Given the description of an element on the screen output the (x, y) to click on. 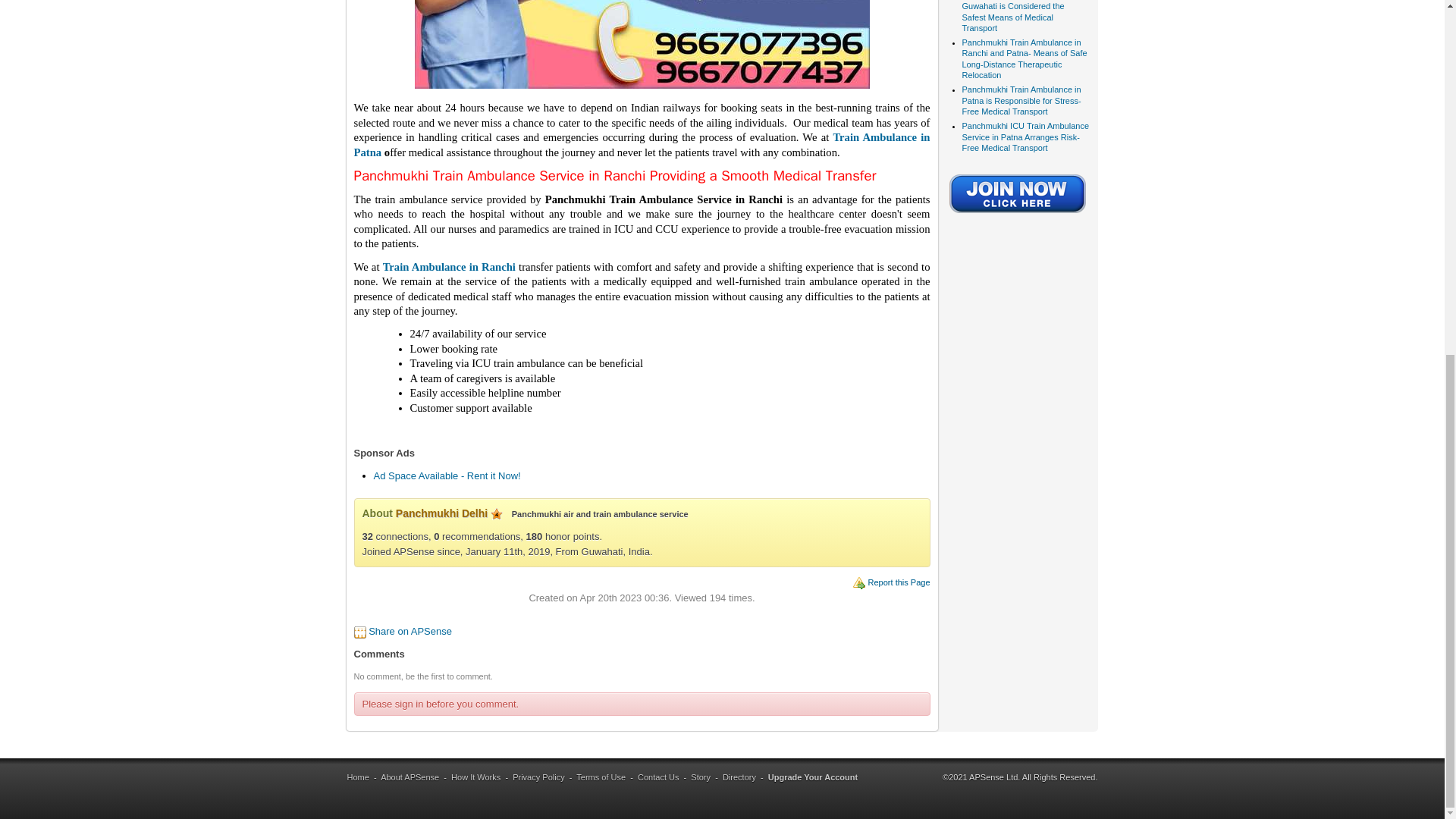
Report this Page (898, 582)
Train Ambulance in Patna (641, 144)
Panchmukhi Delhi (441, 512)
Join APSense Social Network (1017, 214)
Ad Space Available - Rent it Now! (445, 475)
Train Ambulance in Ranchi (448, 266)
Advanced (496, 513)
Share on APSense (409, 631)
Share on APSense (409, 631)
